Given the description of an element on the screen output the (x, y) to click on. 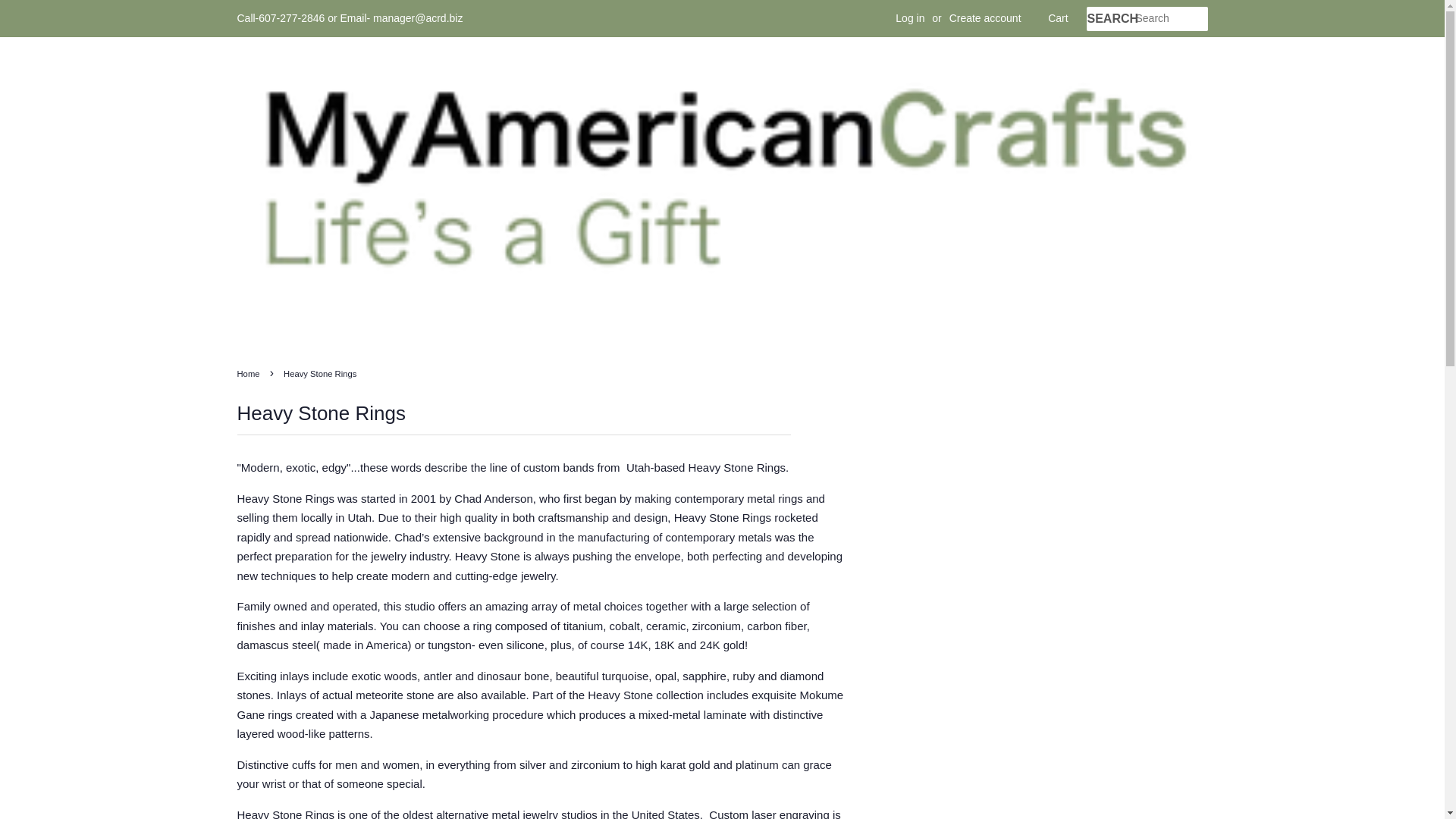
Log in (909, 18)
Home (249, 373)
Create account (985, 18)
Cart (1057, 18)
SEARCH (1110, 18)
